Given the description of an element on the screen output the (x, y) to click on. 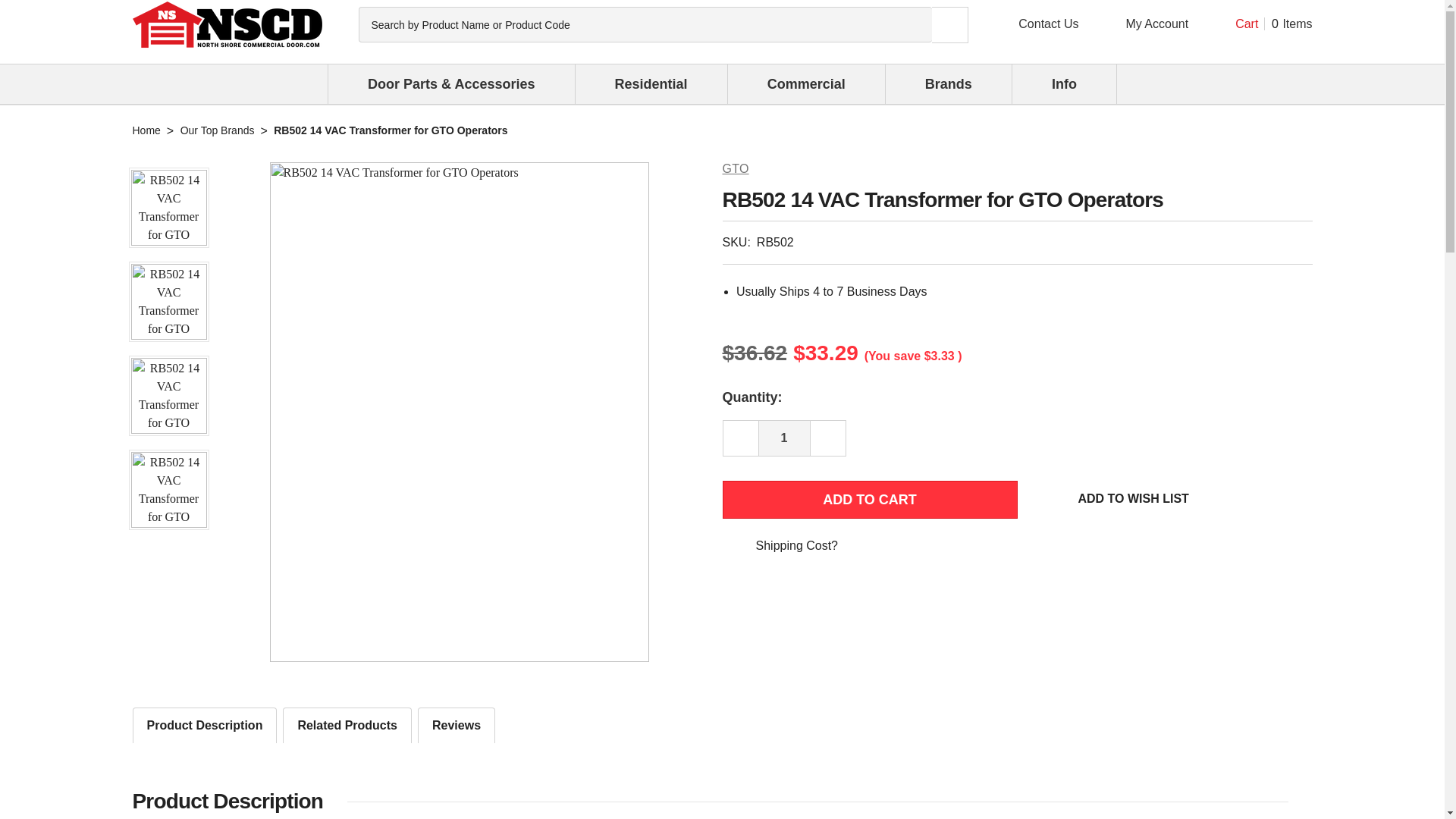
Add to Cart (869, 499)
RB502 14 VAC Transformer for GTO Operators (168, 207)
RB502 14 VAC Transformer for GTO Operators (168, 489)
RB502 14 VAC Transformer for GTO Operators (1253, 24)
North Shore Commercial Door (168, 301)
1 (226, 24)
Contact Us (1141, 24)
Skip to main content (783, 438)
